Given the description of an element on the screen output the (x, y) to click on. 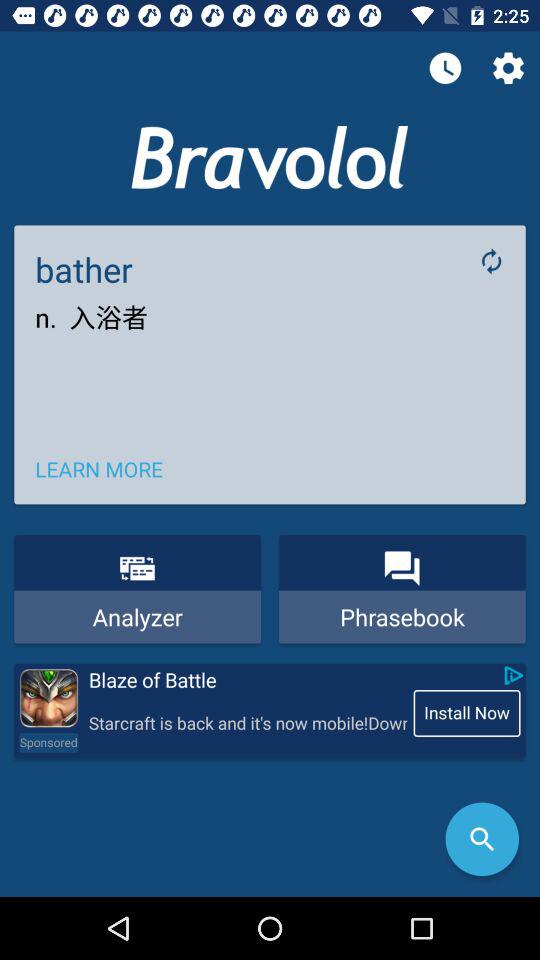
advertisement install app (48, 698)
